Given the description of an element on the screen output the (x, y) to click on. 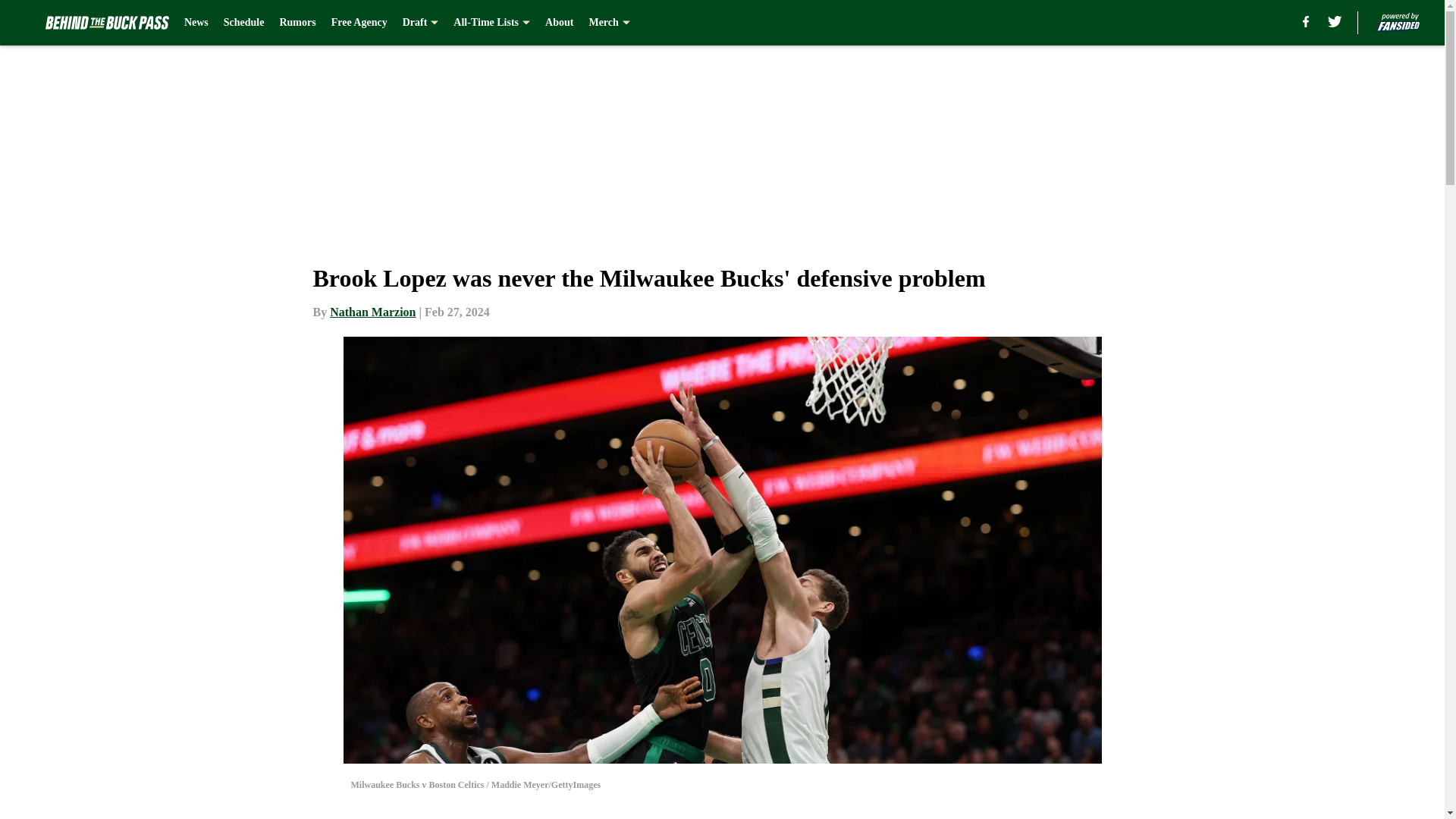
Schedule (244, 22)
News (196, 22)
All-Time Lists (490, 22)
Nathan Marzion (372, 311)
Rumors (297, 22)
Draft (421, 22)
Free Agency (359, 22)
About (558, 22)
